Given the description of an element on the screen output the (x, y) to click on. 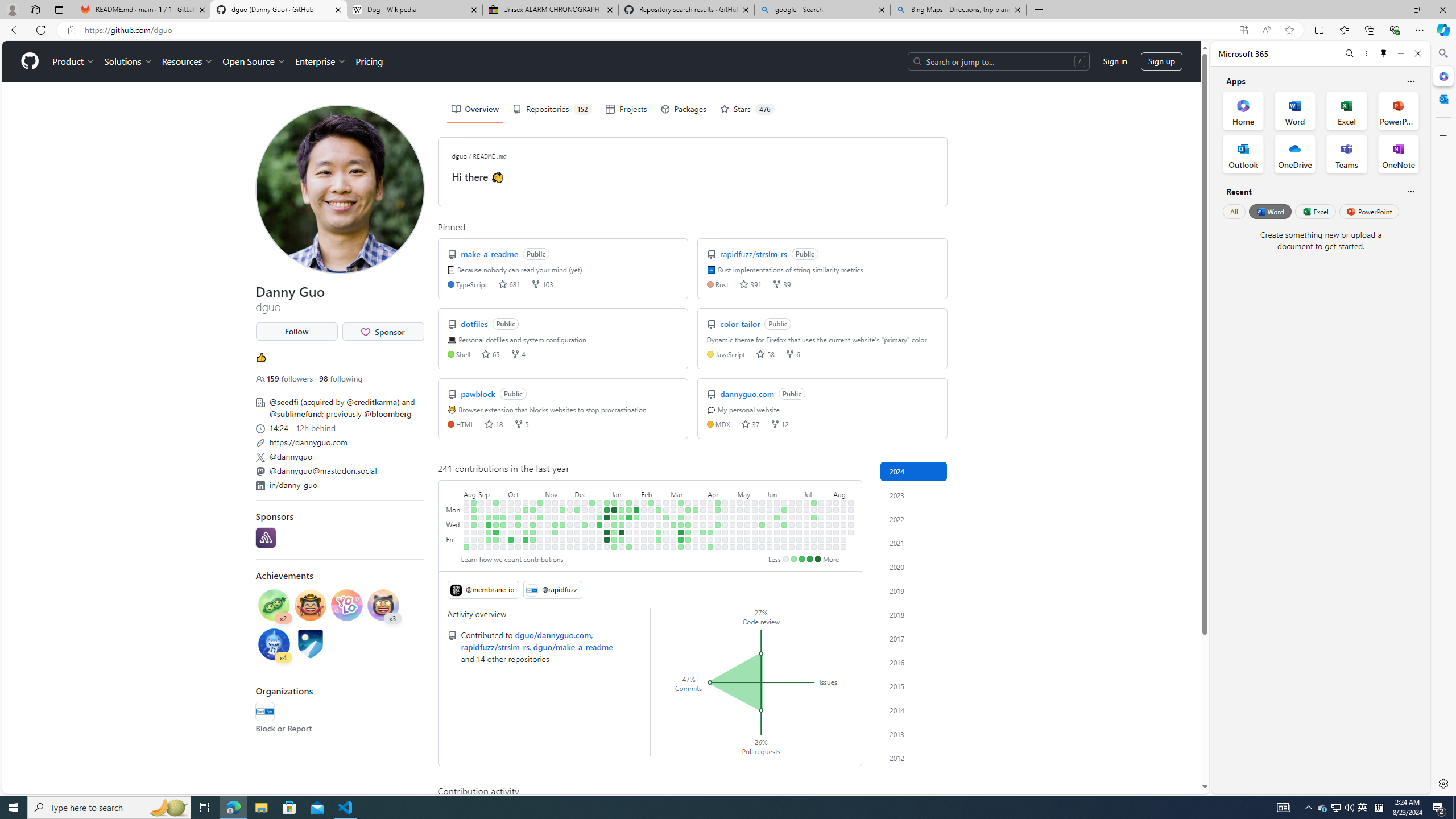
1 contribution on August 29th. (473, 517)
Achievement: YOLO (346, 606)
No contributions on July 28th. (828, 502)
No contributions on December 29th. (599, 539)
Contribution activity in 2014 (913, 709)
rapidfuzz/strsim-rs (494, 646)
No contributions on August 9th. (836, 539)
No contributions on June 7th. (770, 539)
No contributions on November 27th. (569, 509)
3 contributions on January 17th. (621, 524)
stars (746, 424)
No contributions on June 14th. (777, 539)
No contributions on May 27th. (761, 509)
